Given the description of an element on the screen output the (x, y) to click on. 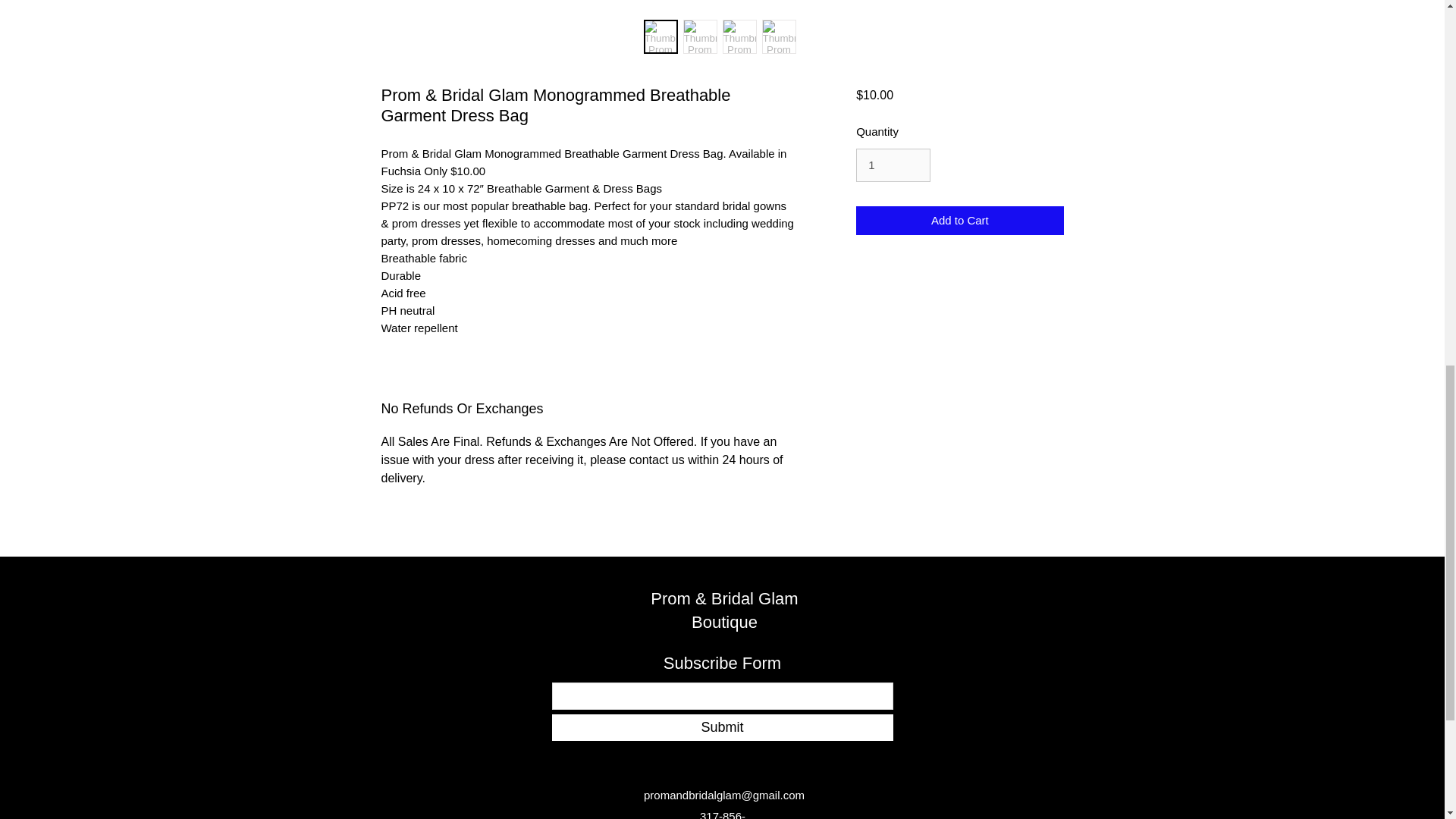
1 (893, 164)
Submit (722, 727)
Add to Cart (959, 220)
